Given the description of an element on the screen output the (x, y) to click on. 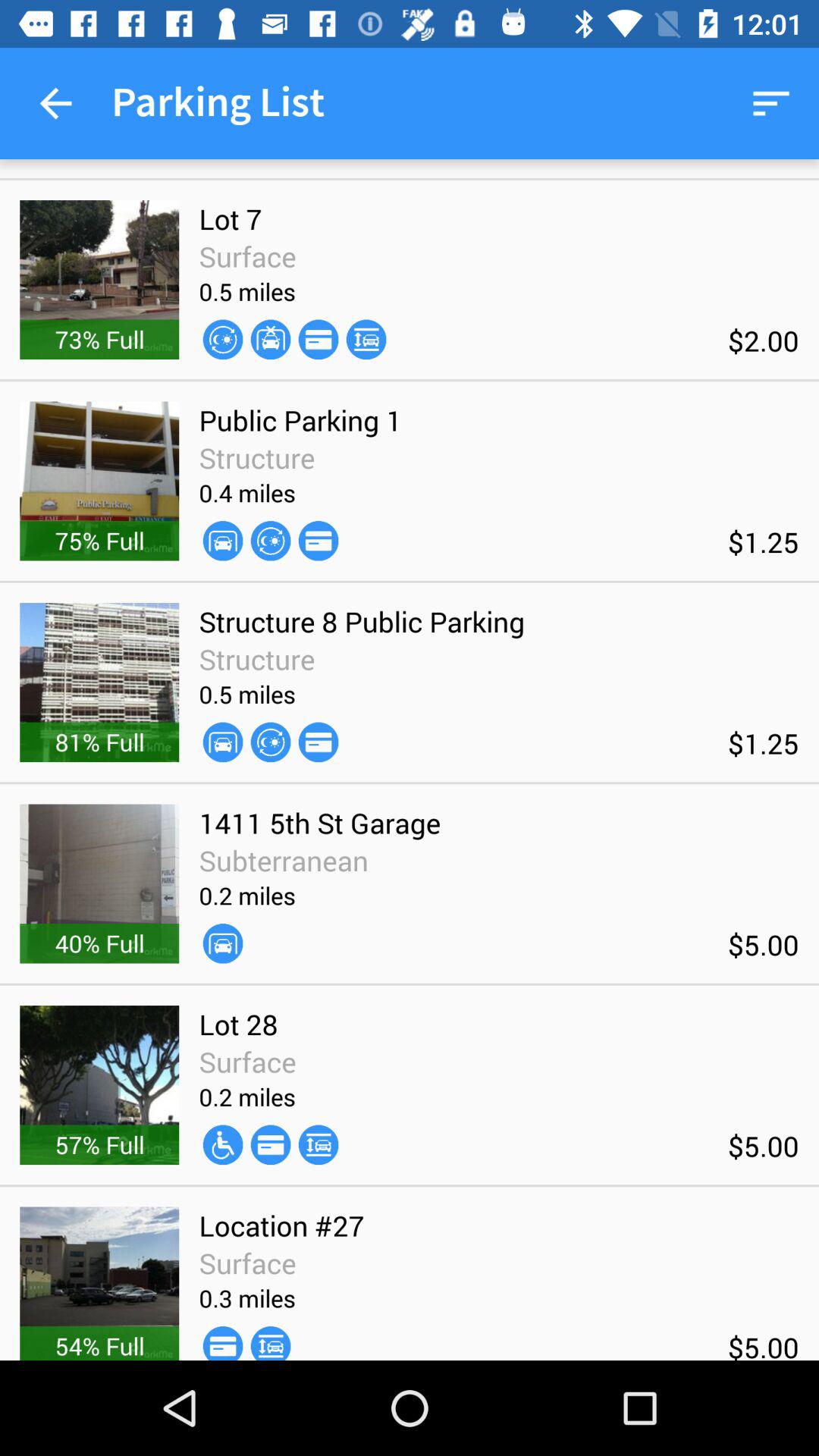
select the item next to parking list item (55, 103)
